Given the description of an element on the screen output the (x, y) to click on. 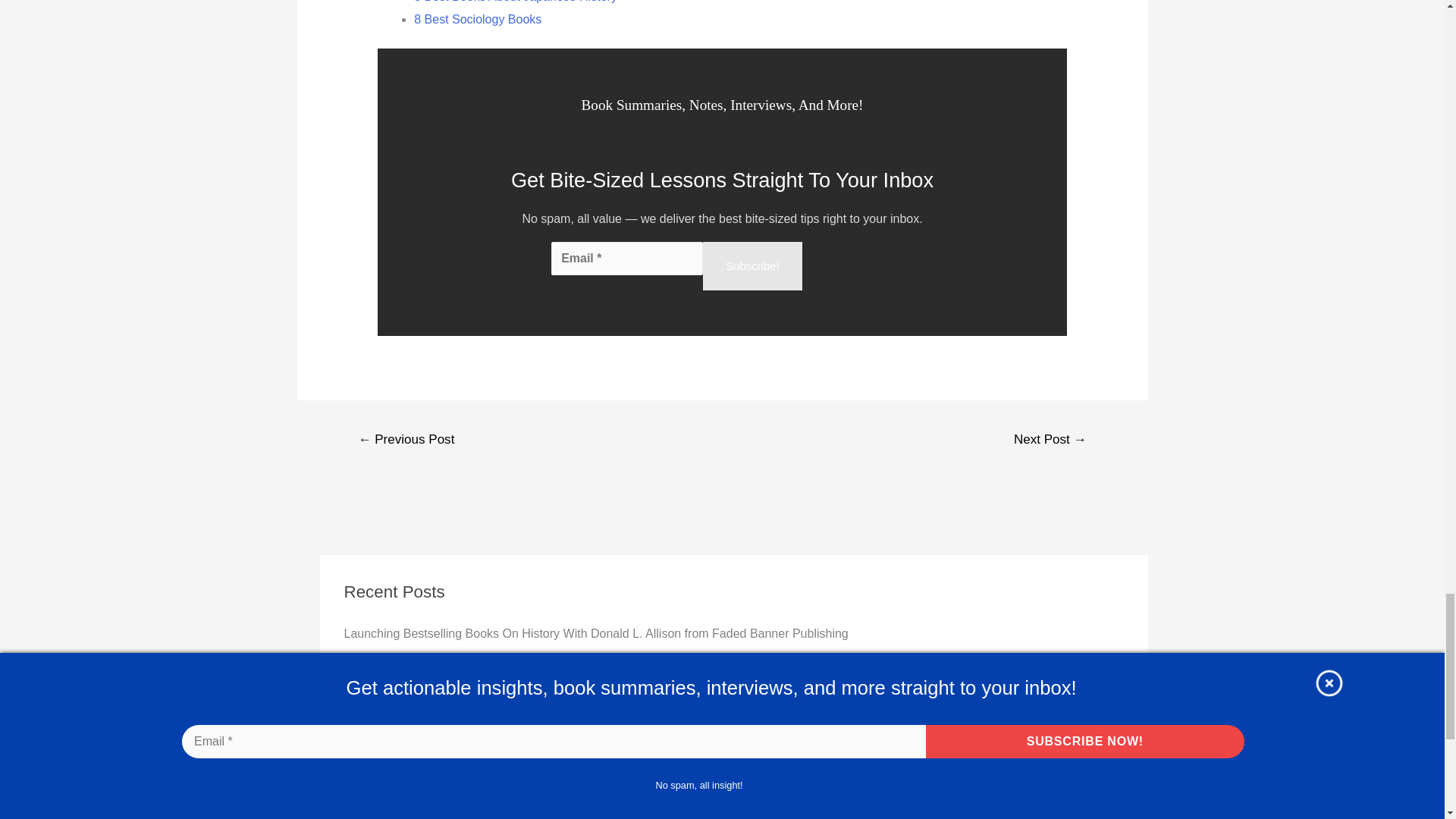
Email (627, 258)
Subscribe! (752, 265)
